Given the description of an element on the screen output the (x, y) to click on. 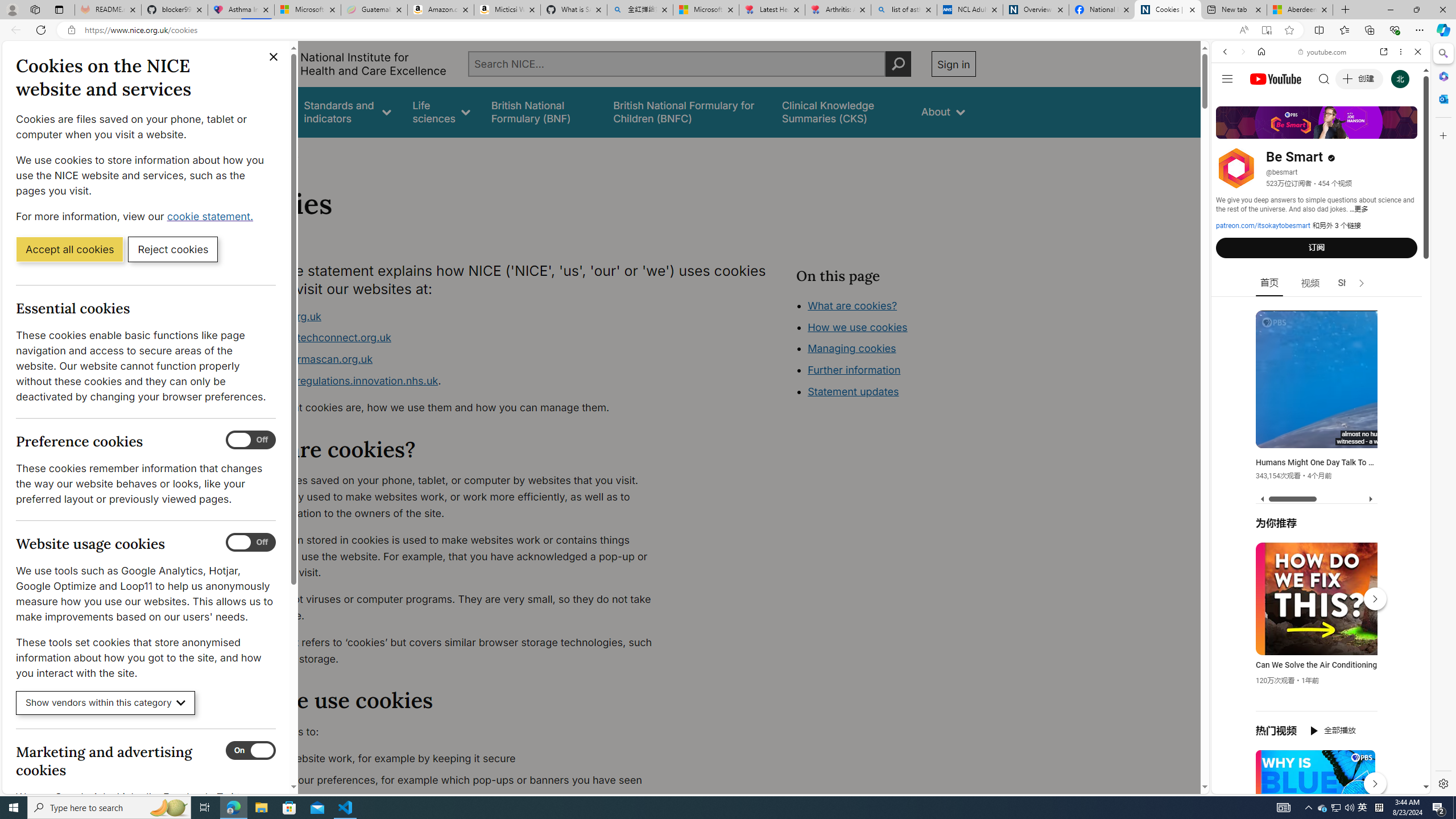
British National Formulary for Children (BNFC) (686, 111)
Life sciences (440, 111)
How we use cookies (896, 389)
AutomationID: right (1361, 283)
Music (1320, 309)
US[ju] (1249, 785)
www.ukpharmascan.org.uk (305, 359)
Search videos from youtube.com (1299, 373)
#you (1320, 253)
Class: dict_pnIcon rms_img (1312, 784)
